Given the description of an element on the screen output the (x, y) to click on. 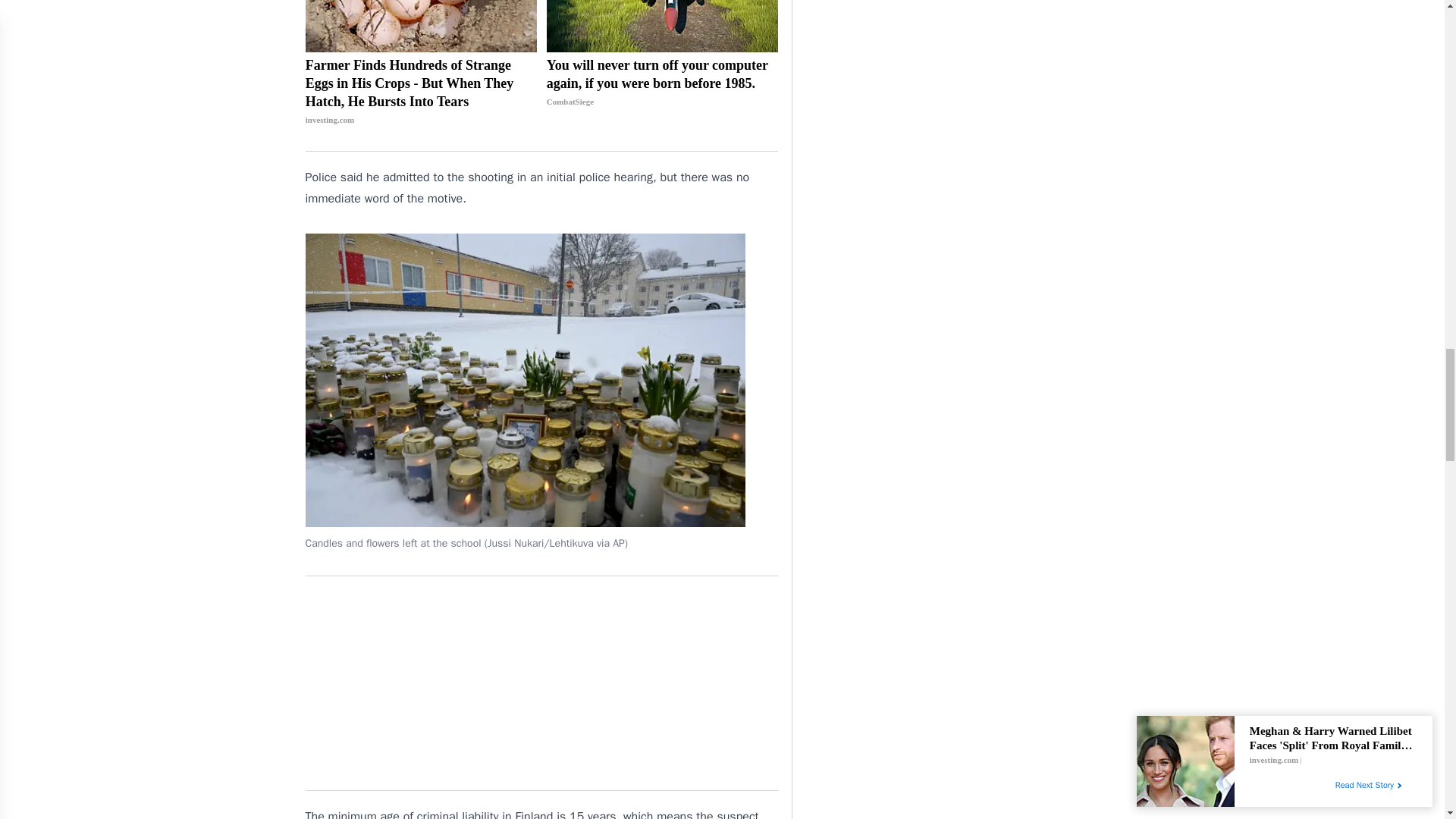
3rd party ad content (541, 683)
